Given the description of an element on the screen output the (x, y) to click on. 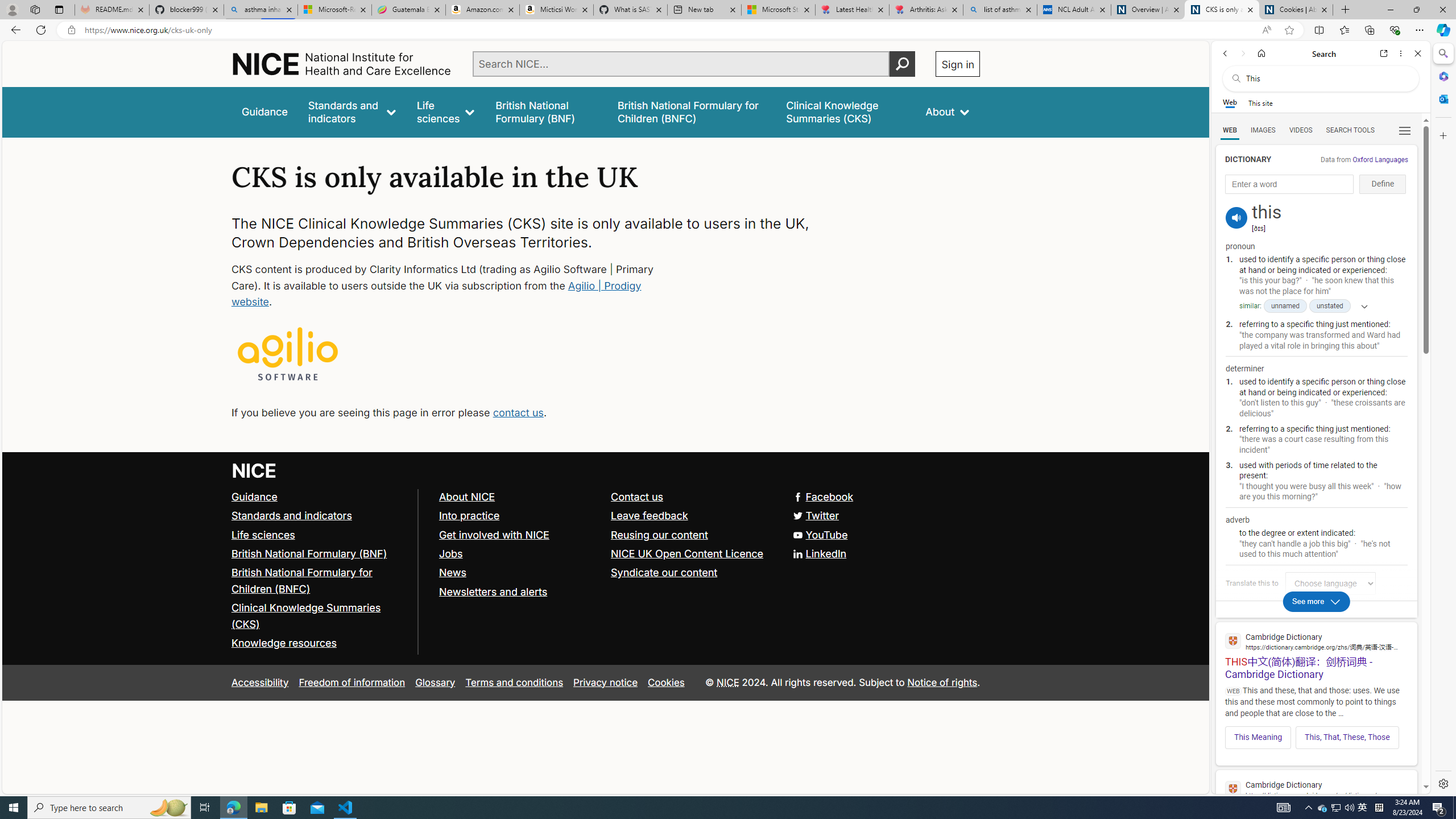
Perform search (902, 63)
Minimize (1390, 9)
Read aloud this page (Ctrl+Shift+U) (1266, 29)
This, That, These, Those (1347, 737)
Into practice (518, 515)
Cambridge Dictionary (1315, 788)
Syndicate our content (664, 571)
Accessibility (259, 682)
Freedom of information (352, 682)
VIDEOS (1300, 130)
Search Filter, Search Tools (1350, 129)
Jobs (450, 553)
Personal Profile (12, 9)
